Given the description of an element on the screen output the (x, y) to click on. 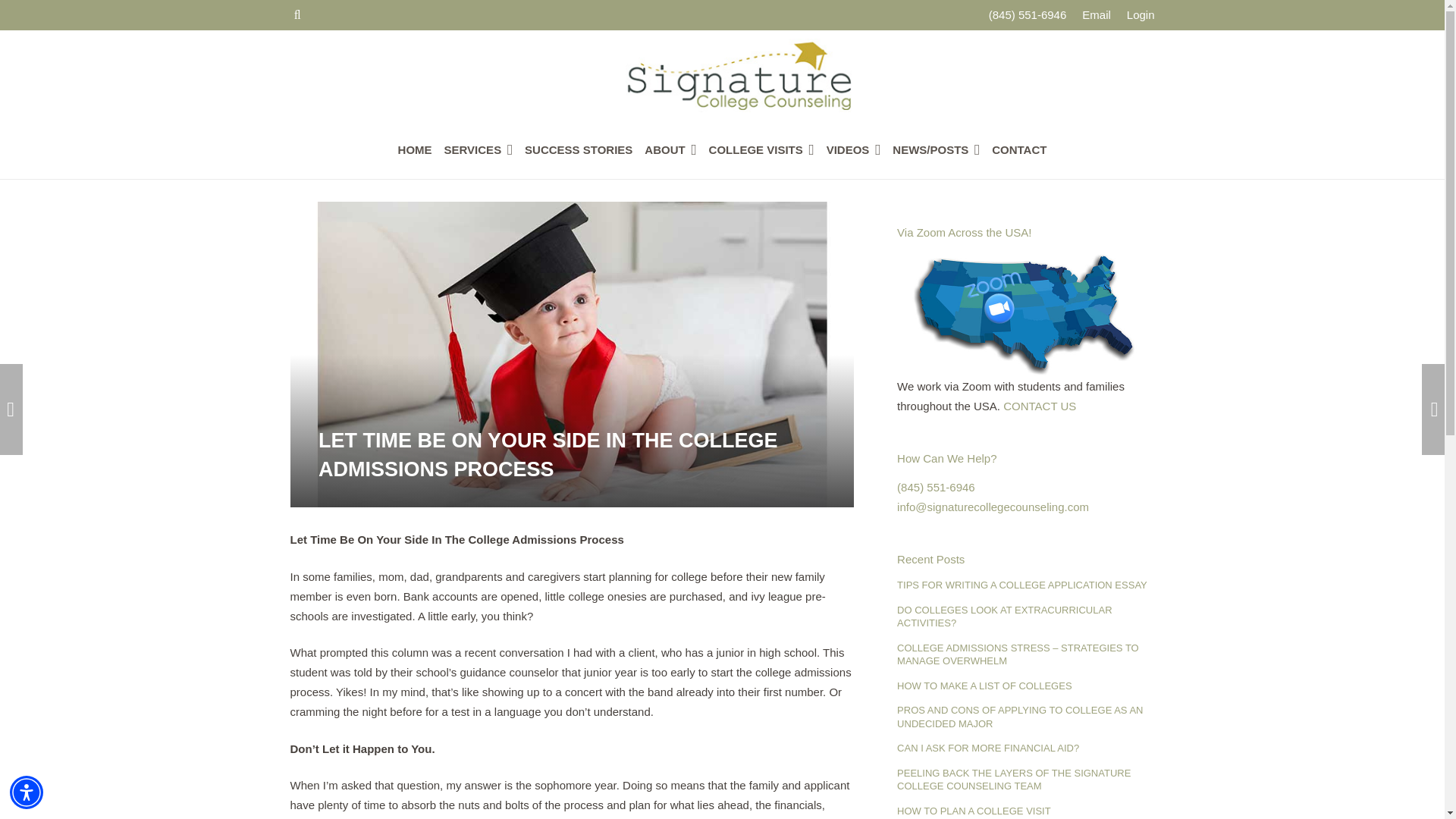
SERVICES (478, 149)
Accessibility Menu (26, 792)
COLLEGE VISITS (762, 149)
VIDEOS (853, 149)
SUCCESS STORIES (578, 149)
HOME (414, 149)
Login (1140, 14)
Email (1095, 14)
ABOUT (670, 149)
